Given the description of an element on the screen output the (x, y) to click on. 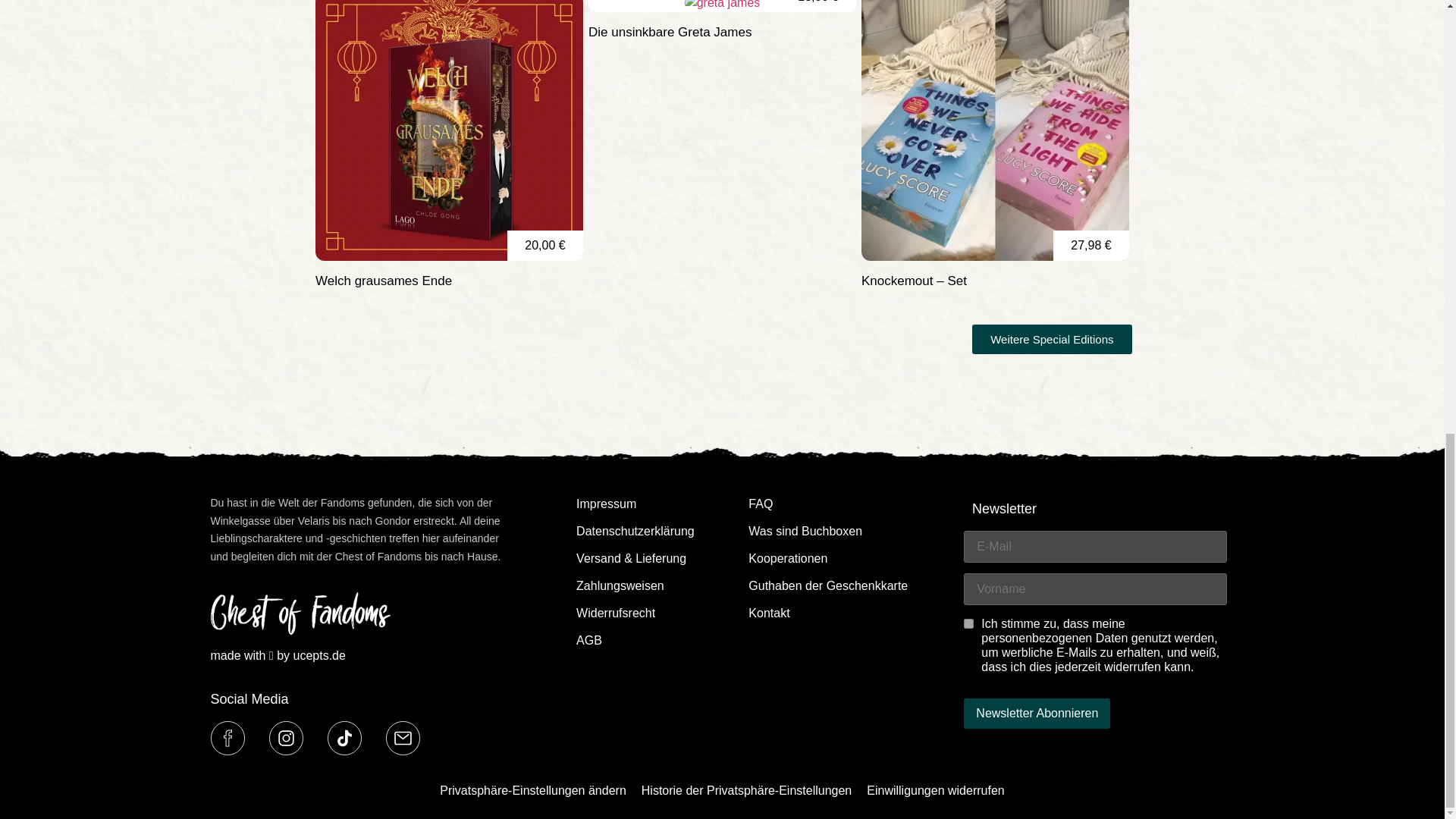
KnockemoutSet (995, 130)
greta james (722, 6)
on (968, 623)
3225068024.jpg (449, 130)
Newsletter Abonnieren (1036, 713)
